Given the description of an element on the screen output the (x, y) to click on. 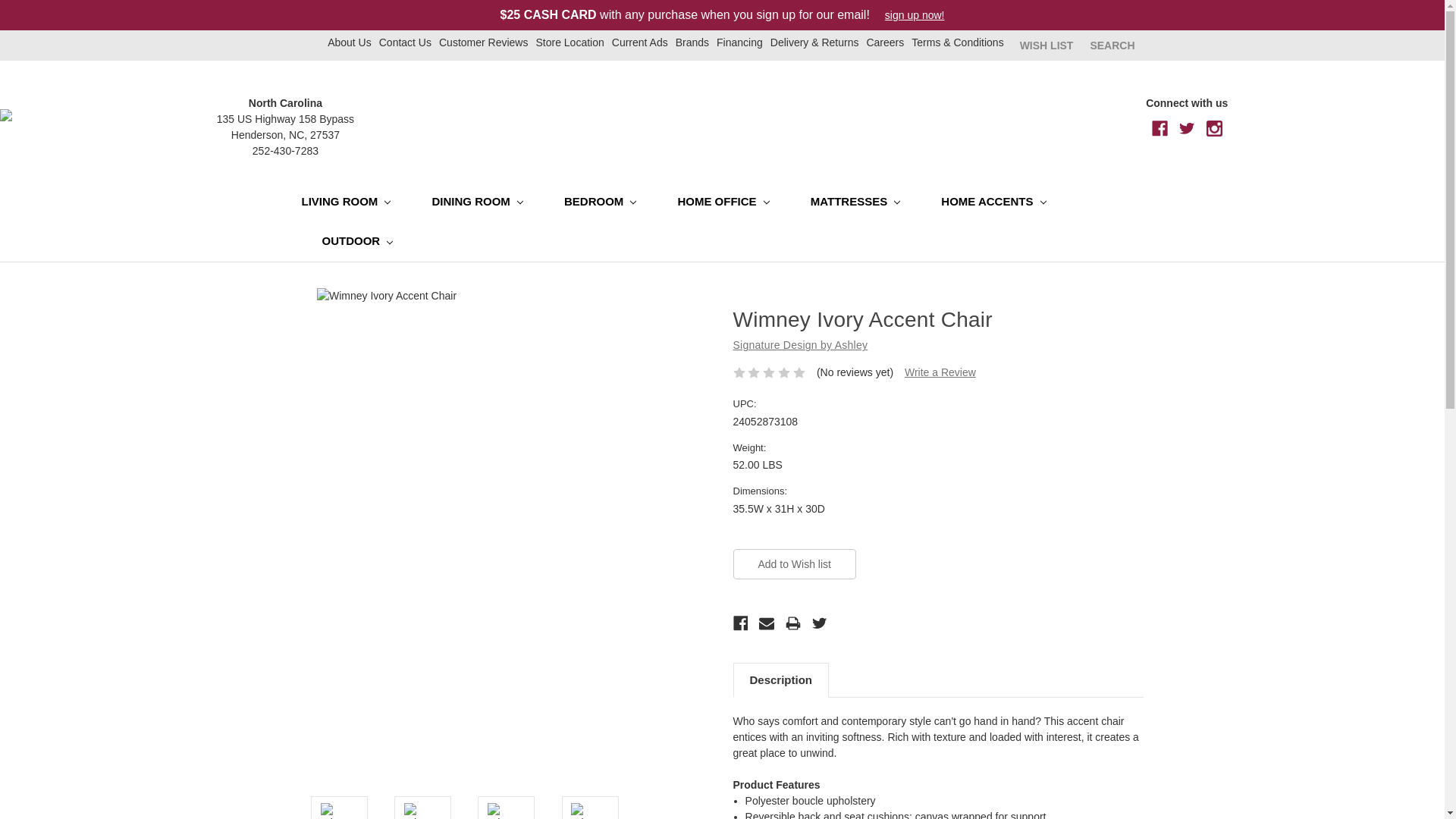
Wimney Ivory Accent Chair (339, 811)
Customer Reviews (483, 42)
Wimney Ivory Accent Chair (506, 811)
SEARCH (1111, 45)
Add to Wish list (794, 563)
sign up now! (906, 15)
Wimney Ivory Accent Chair (423, 811)
Financing (739, 42)
Brands (692, 42)
WISH LIST (1046, 45)
Careers (885, 42)
Current Ads (639, 42)
Wimney Ivory Accent Chair (589, 811)
Store Location (569, 42)
LIVING ROOM (356, 201)
